Given the description of an element on the screen output the (x, y) to click on. 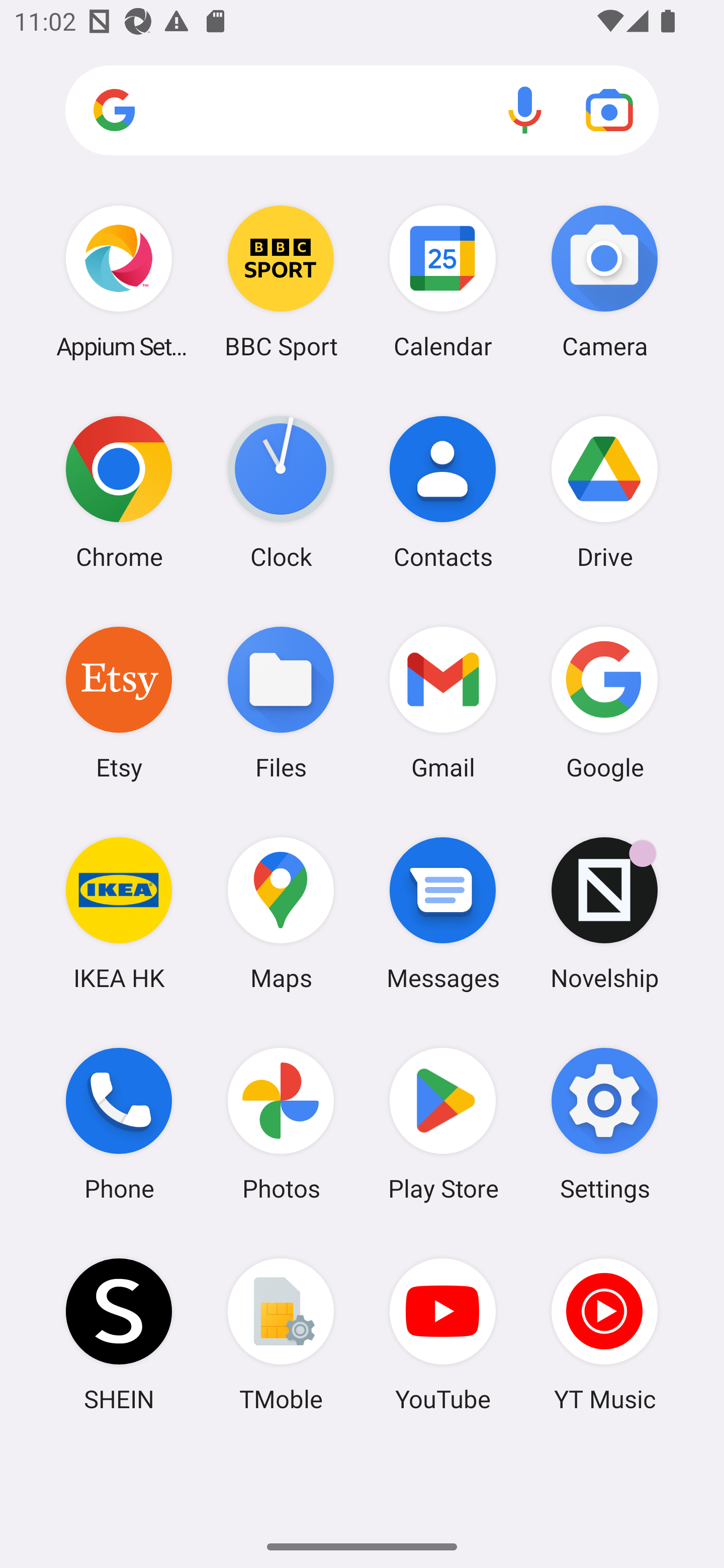
Search apps, web and more (361, 110)
Voice search (524, 109)
Google Lens (608, 109)
Appium Settings (118, 281)
BBC Sport (280, 281)
Calendar (443, 281)
Camera (604, 281)
Chrome (118, 492)
Clock (280, 492)
Contacts (443, 492)
Drive (604, 492)
Etsy (118, 702)
Files (280, 702)
Gmail (443, 702)
Google (604, 702)
IKEA HK (118, 913)
Maps (280, 913)
Messages (443, 913)
Novelship Novelship has 2 notifications (604, 913)
Phone (118, 1124)
Photos (280, 1124)
Play Store (443, 1124)
Settings (604, 1124)
SHEIN (118, 1334)
TMoble (280, 1334)
YouTube (443, 1334)
YT Music (604, 1334)
